Given the description of an element on the screen output the (x, y) to click on. 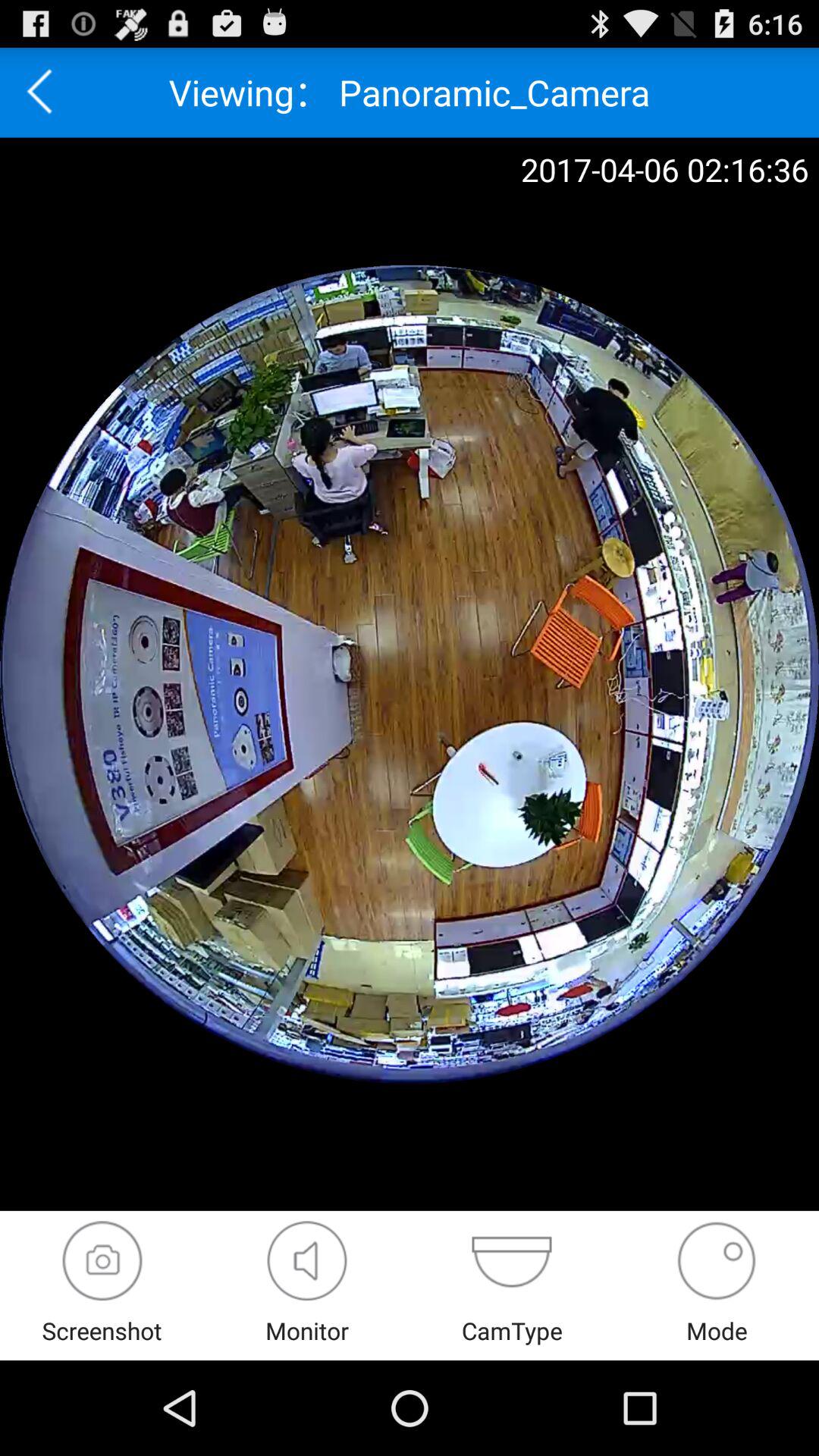
change the camtype (511, 1260)
